Given the description of an element on the screen output the (x, y) to click on. 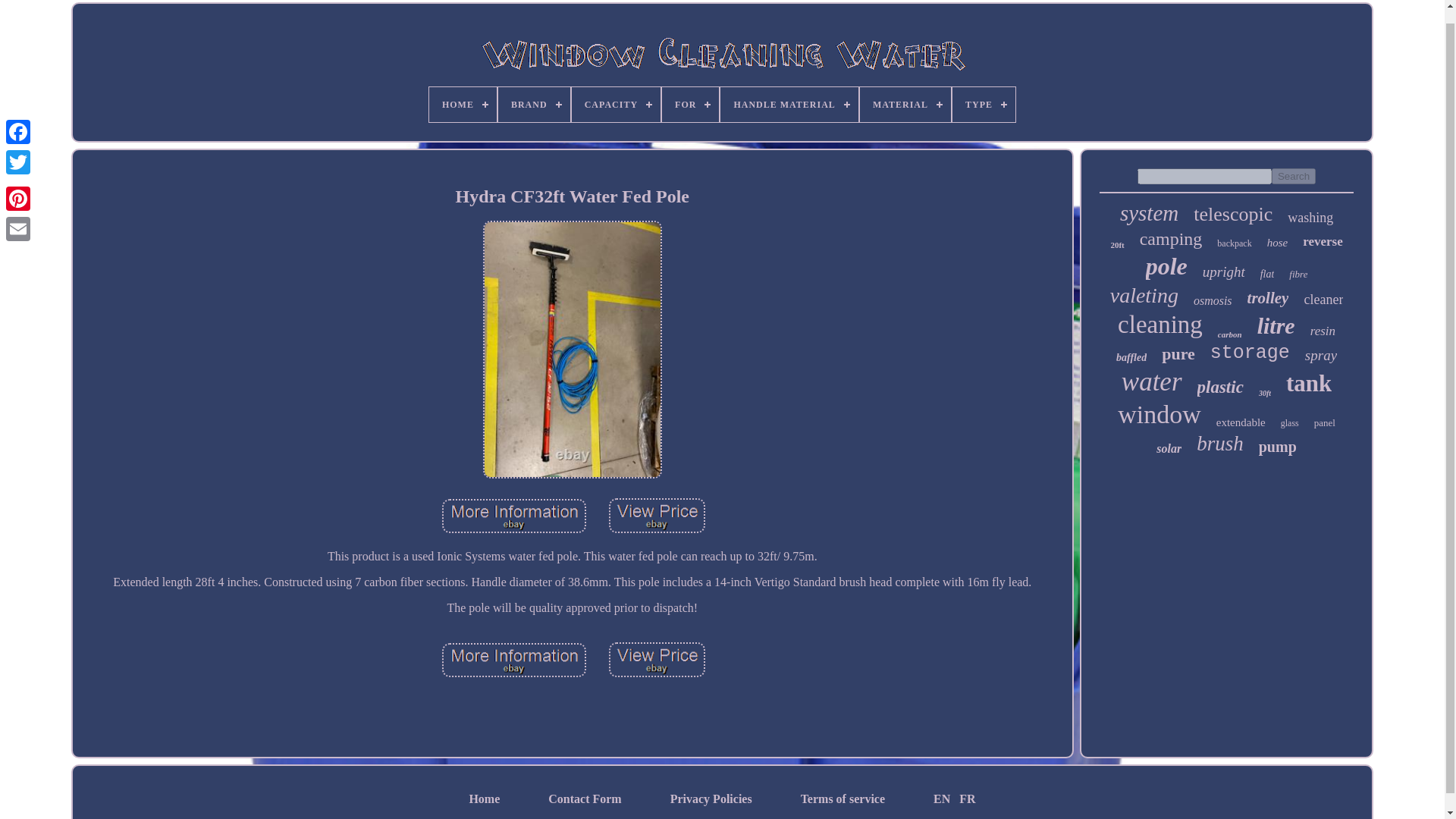
CAPACITY (616, 104)
Hydra CF32ft Water Fed Pole (514, 659)
HOME (462, 104)
Hydra Cf32ft Water Fed Pole (571, 196)
Hydra Cf32ft Water Fed Pole (513, 661)
Hydra Cf32ft Water Fed Pole (657, 660)
Hydra CF32ft Water Fed Pole (656, 659)
Hydra Cf32ft Water Fed Pole (513, 517)
Search (1293, 176)
BRAND (533, 104)
Hydra Cf32ft Water Fed Pole (657, 516)
Hydra CF32ft Water Fed Pole (514, 515)
Hydra CF32ft Water Fed Pole (656, 515)
